Given the description of an element on the screen output the (x, y) to click on. 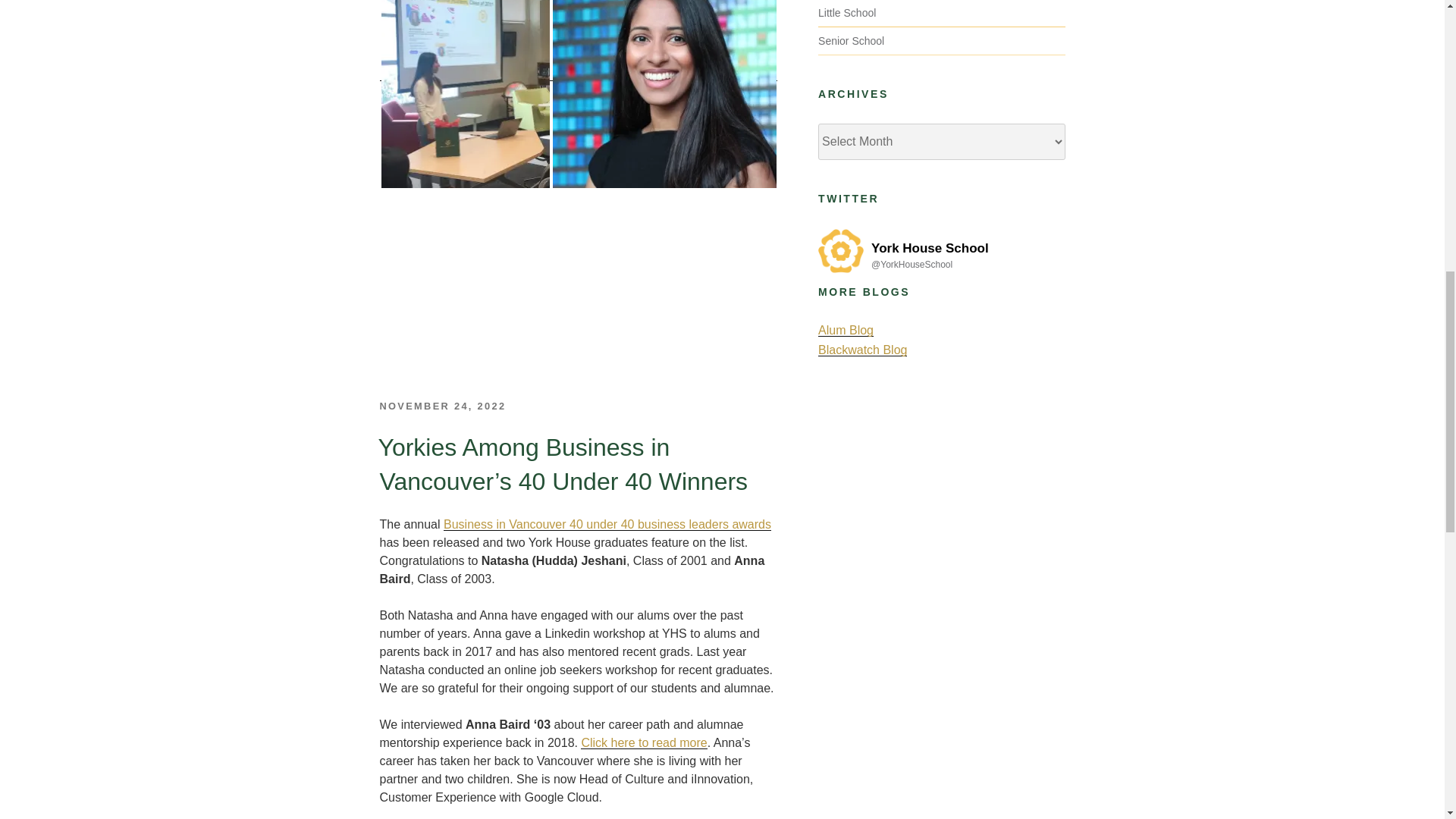
Alum Blog (845, 329)
Jenna (663, 94)
Senior School (850, 40)
Little School (847, 12)
NOVEMBER 24, 2022 (441, 405)
Blackwatch Blog (862, 349)
Business in Vancouver 40 under 40 business leaders awards (607, 523)
Click here to read more (643, 742)
